Given the description of an element on the screen output the (x, y) to click on. 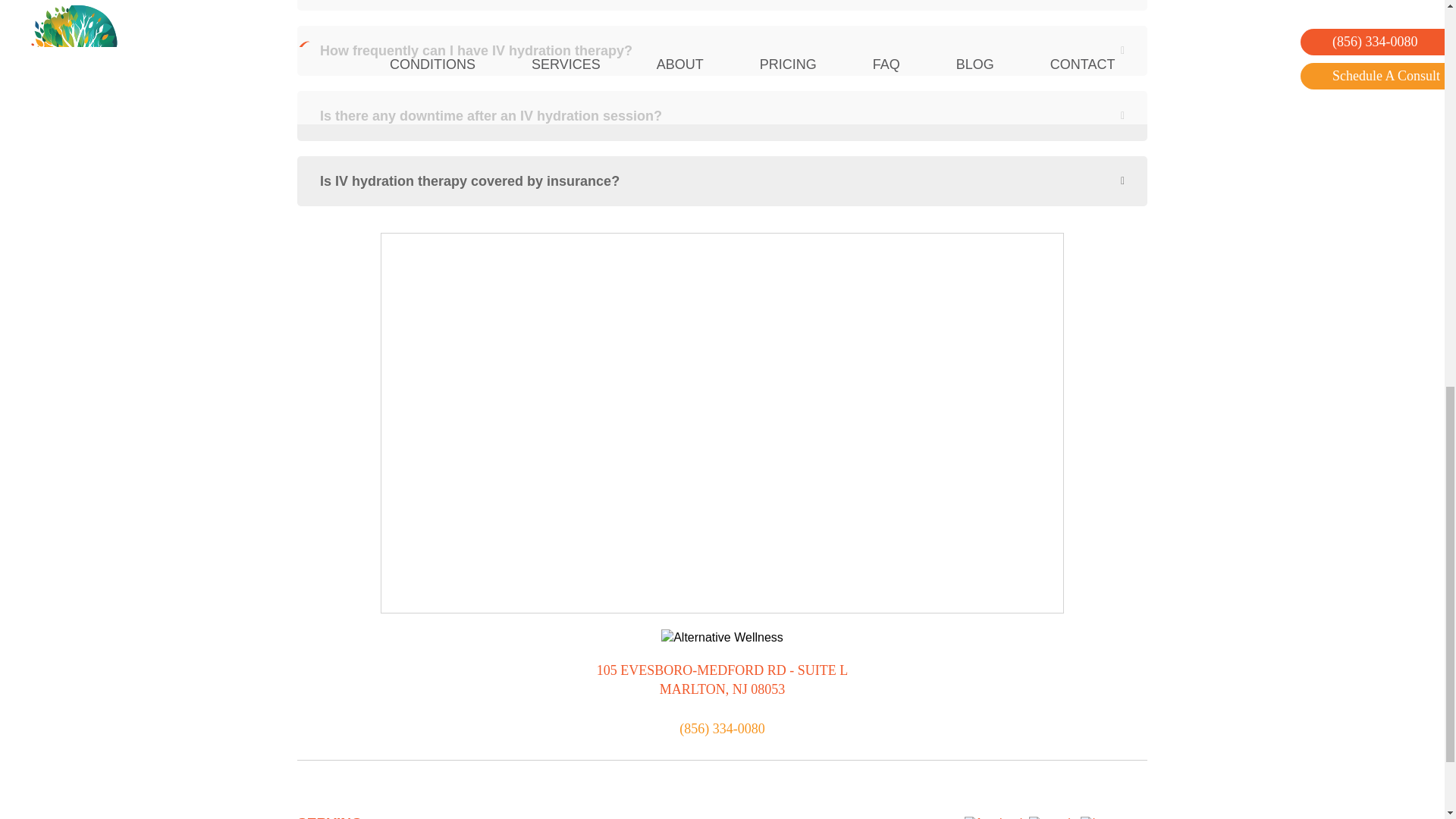
instagram (1112, 817)
facebook (994, 817)
facebook (994, 817)
google (1052, 817)
instagram (1112, 817)
google (1053, 817)
